Given the description of an element on the screen output the (x, y) to click on. 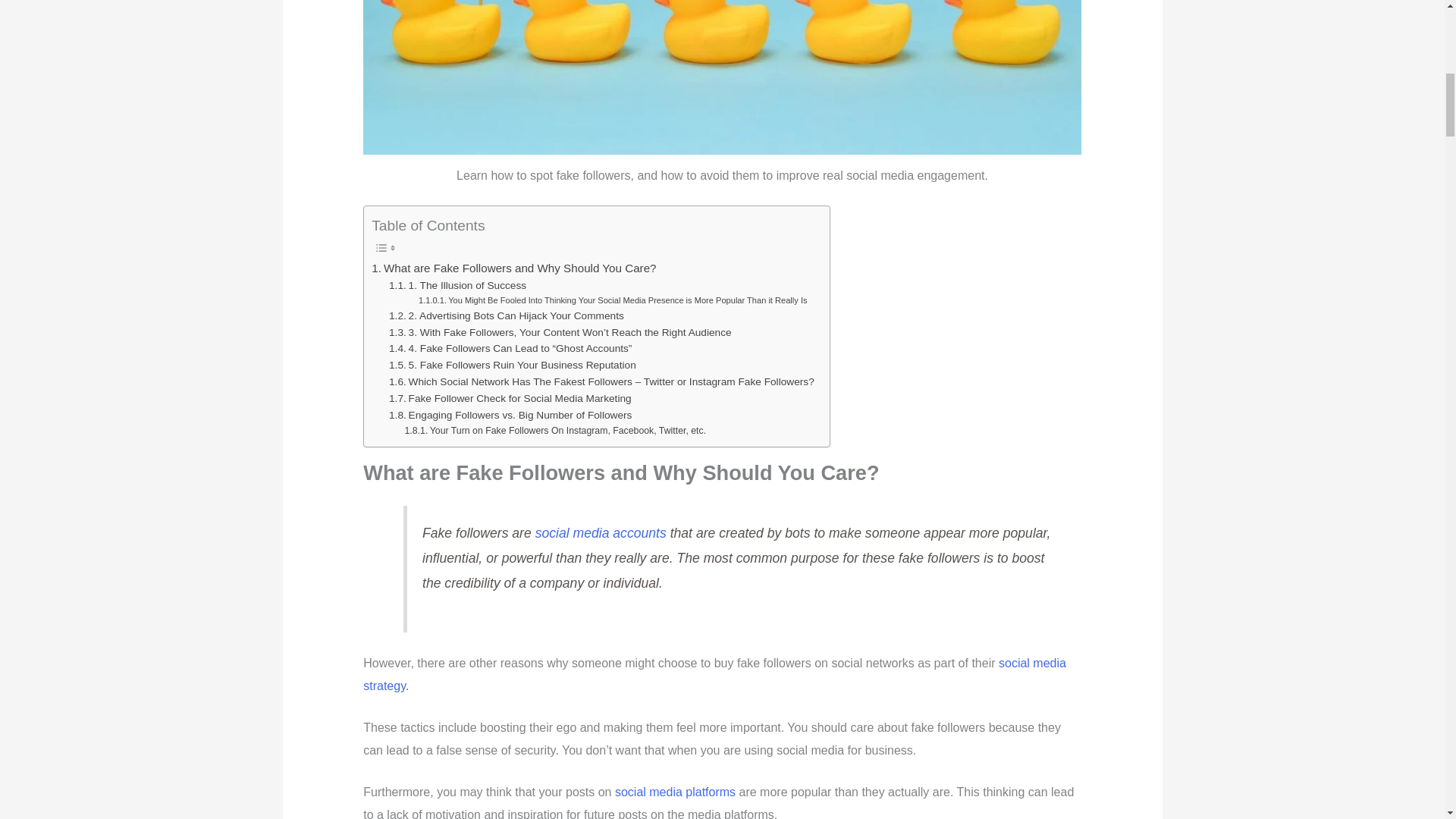
Fake Follower Check for Social Media Marketing (509, 398)
1. The Illusion of Success (456, 285)
Engaging Followers vs. Big Number of Followers (509, 415)
2. Advertising Bots Can Hijack Your Comments (506, 315)
What are Fake Followers and Why Should You Care? (513, 268)
5. Fake Followers Ruin Your Business Reputation (512, 365)
